Given the description of an element on the screen output the (x, y) to click on. 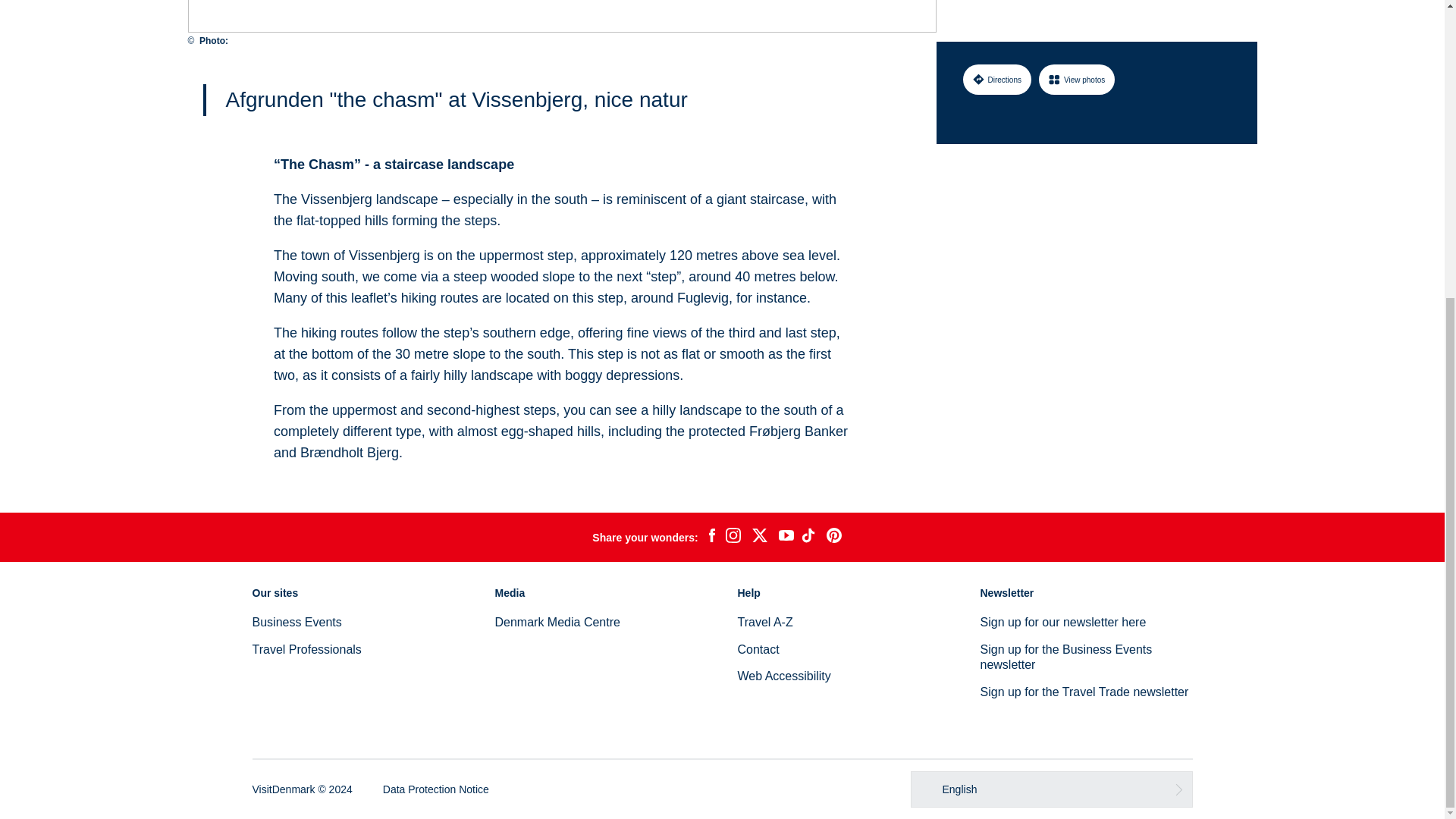
Business Events (295, 621)
Sign up for the Business Events newsletter (1065, 656)
Sign up for the Travel Trade newsletter (1083, 691)
Contact (757, 649)
Travel A-Z (764, 621)
Contact (757, 649)
youtube (786, 537)
Travel Professionals (306, 649)
Denmark Media Centre (557, 621)
Sign up for our newsletter here (1062, 621)
Sign up for the Business Events newsletter (1065, 656)
instagram (732, 537)
Web Accessibility (782, 675)
Sign up for our newsletter here (1062, 621)
Travel A-Z (764, 621)
